Given the description of an element on the screen output the (x, y) to click on. 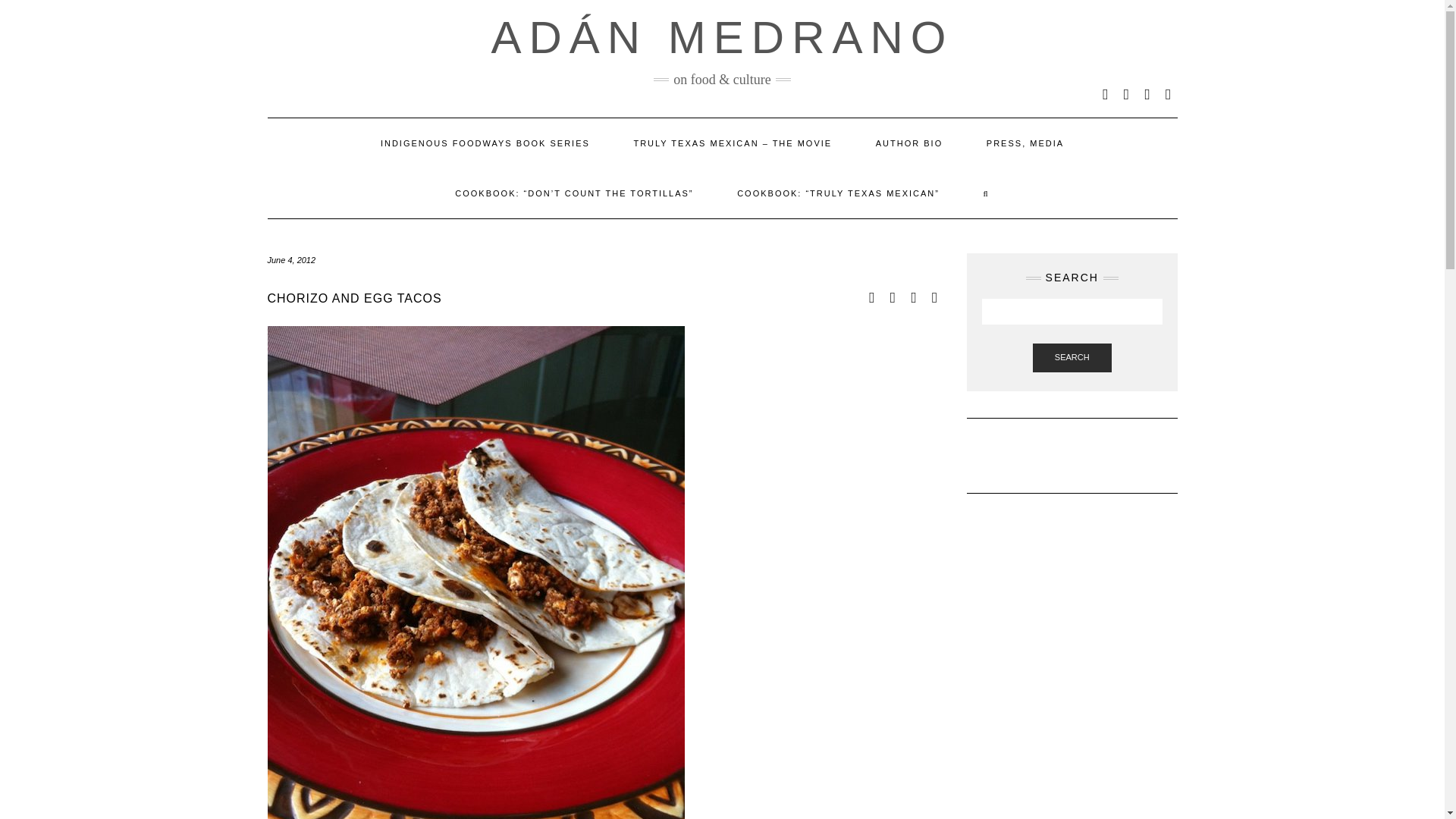
PRESS, MEDIA (1025, 142)
SEARCH (1072, 357)
AUTHOR BIO (909, 142)
INDIGENOUS FOODWAYS BOOK SERIES (484, 142)
